Given the description of an element on the screen output the (x, y) to click on. 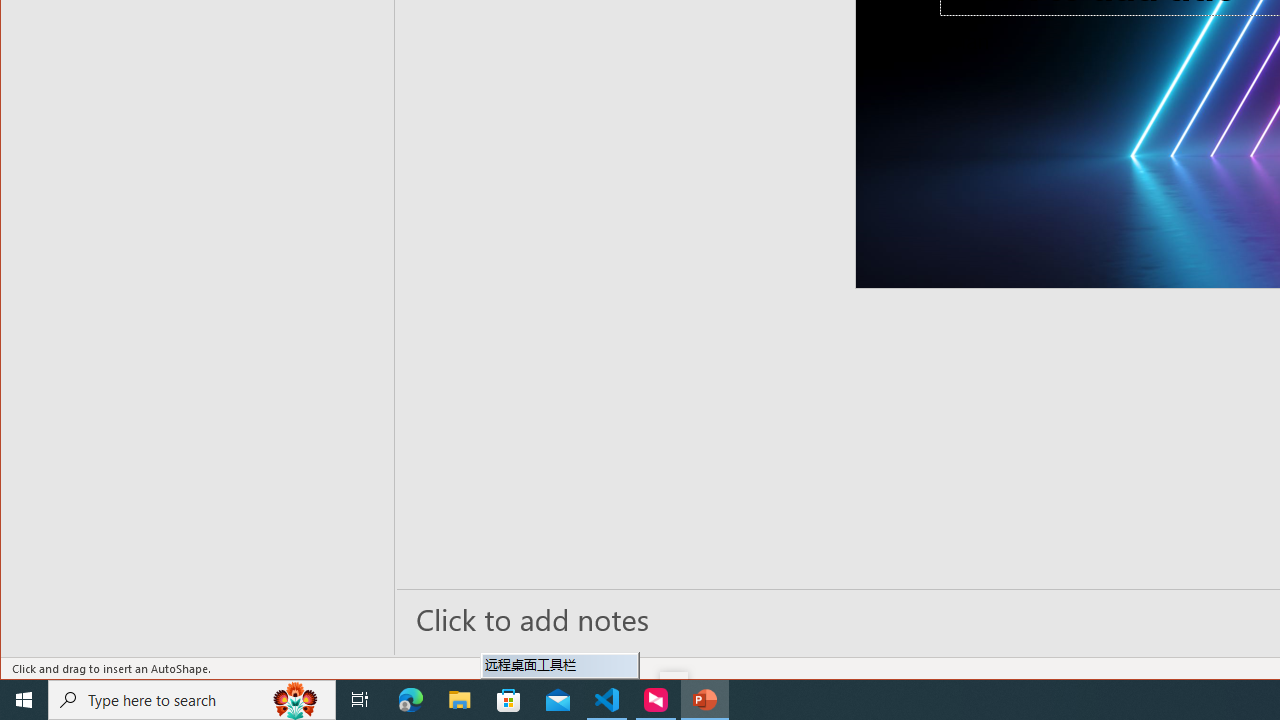
Microsoft Edge (411, 699)
